Given the description of an element on the screen output the (x, y) to click on. 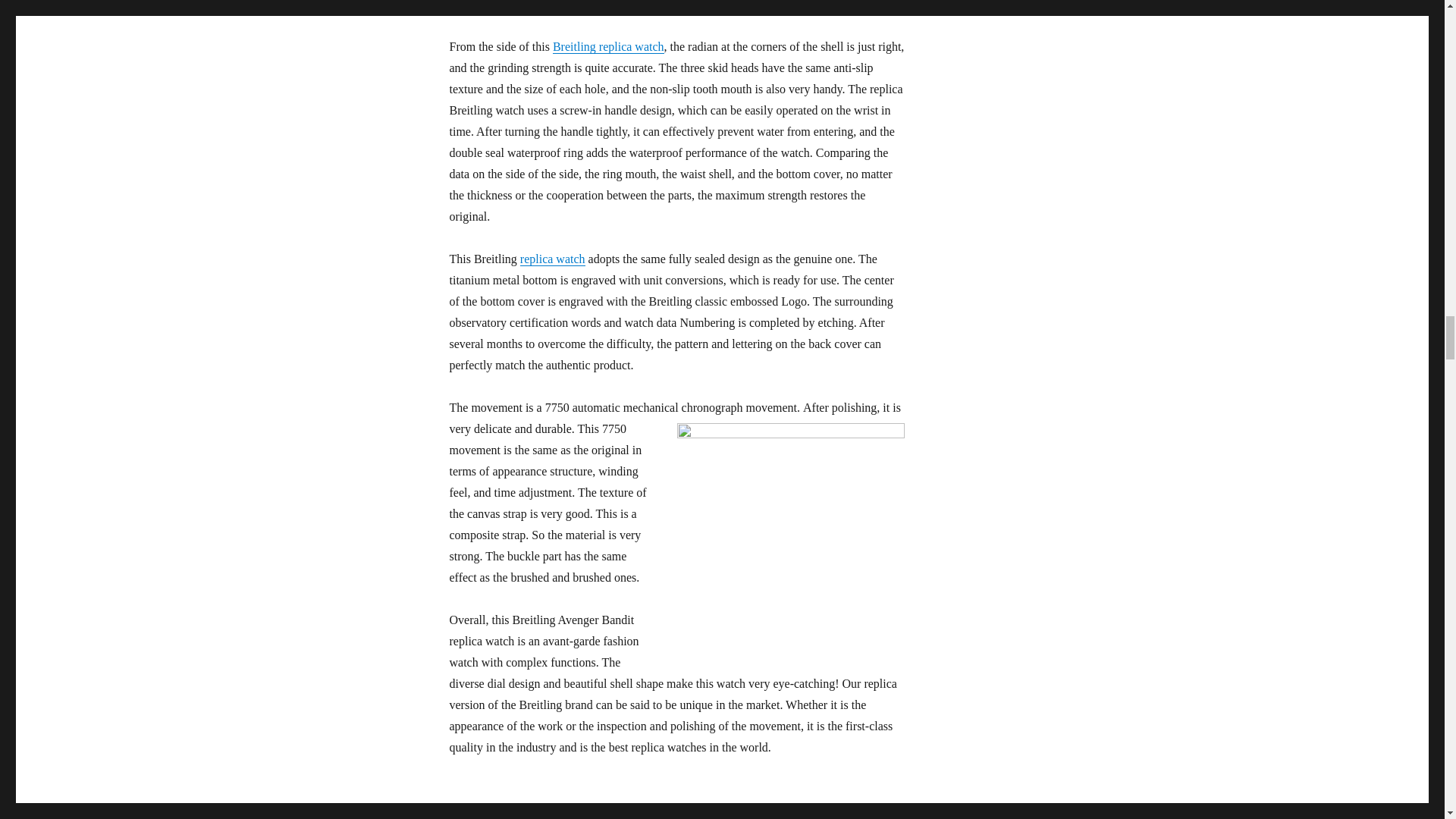
Breitling replica watch (608, 46)
replica watch (552, 258)
